Given the description of an element on the screen output the (x, y) to click on. 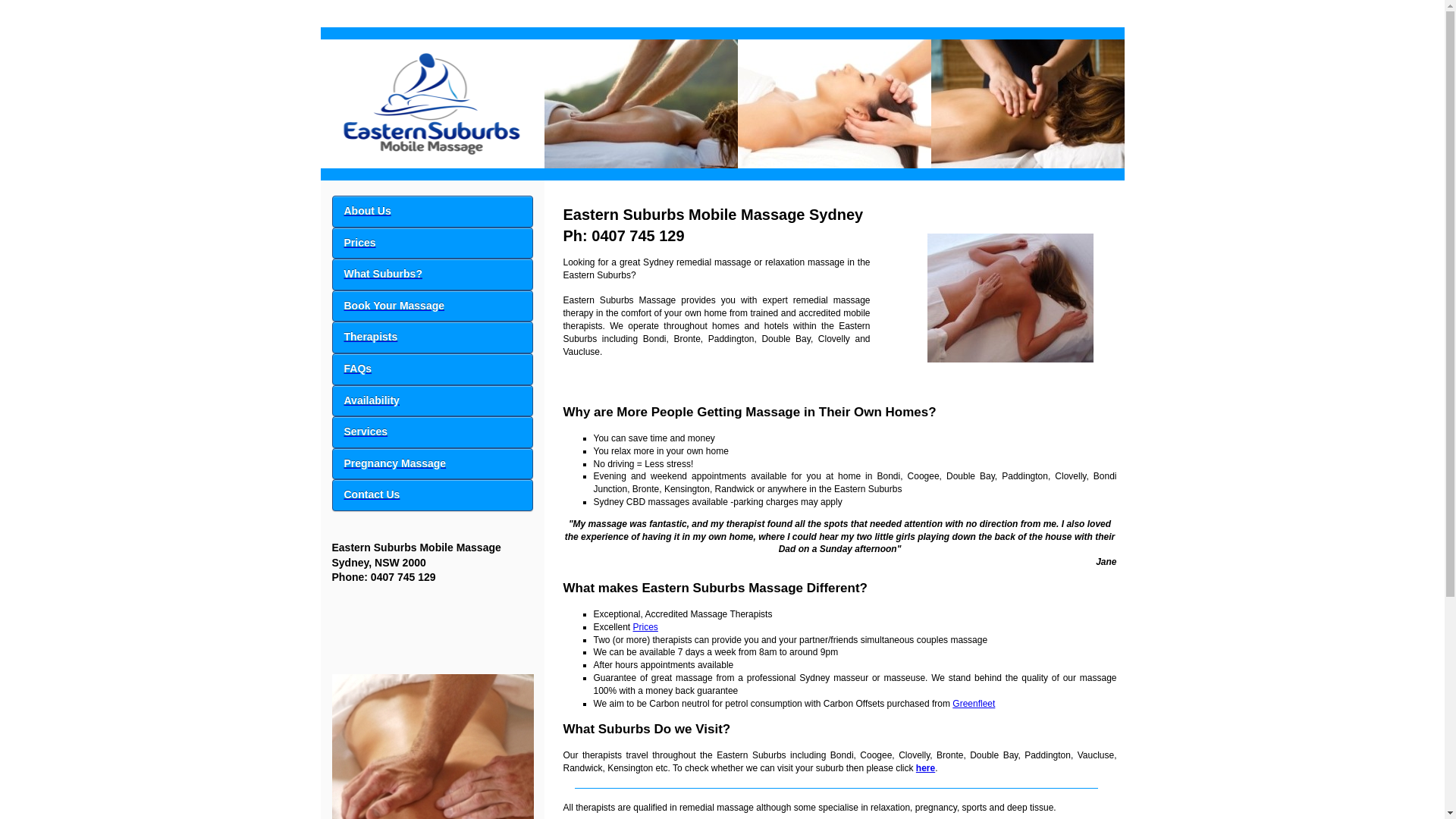
Availability Element type: text (432, 401)
here Element type: text (925, 767)
FAQs Element type: text (432, 369)
Pregnancy Massage Element type: text (432, 464)
Prices Element type: text (645, 626)
Greenfleet Element type: text (973, 703)
Contact Us Element type: text (432, 501)
What Suburbs? Element type: text (432, 274)
Services Element type: text (432, 432)
Therapists Element type: text (432, 337)
About Us Element type: text (432, 211)
Prices Element type: text (432, 243)
Book Your Massage Element type: text (432, 306)
